Given the description of an element on the screen output the (x, y) to click on. 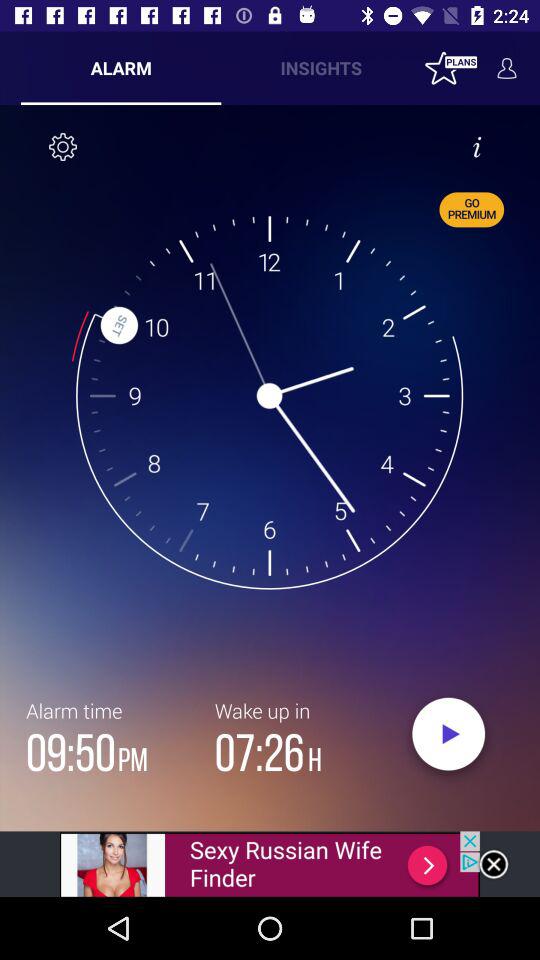
start timer (448, 739)
